Given the description of an element on the screen output the (x, y) to click on. 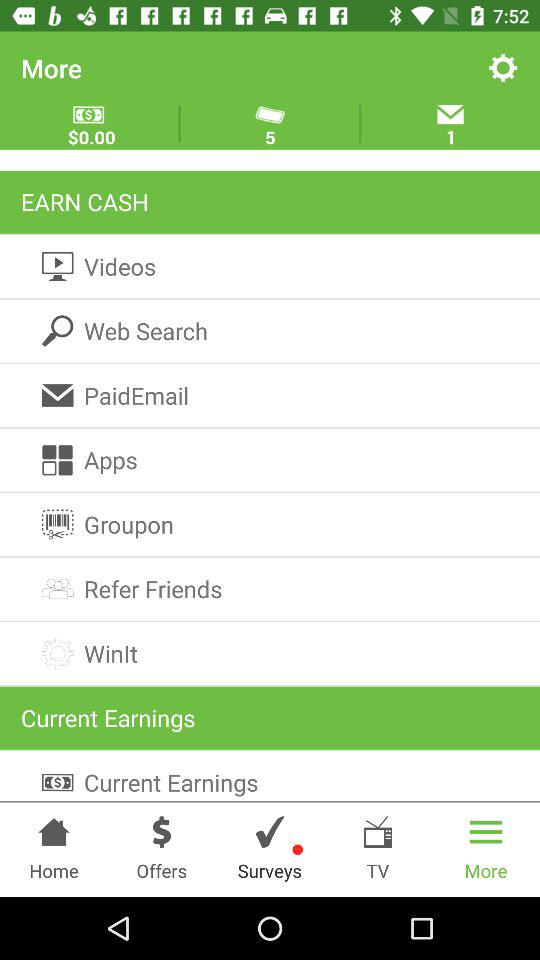
flip until the groupon item (270, 524)
